Given the description of an element on the screen output the (x, y) to click on. 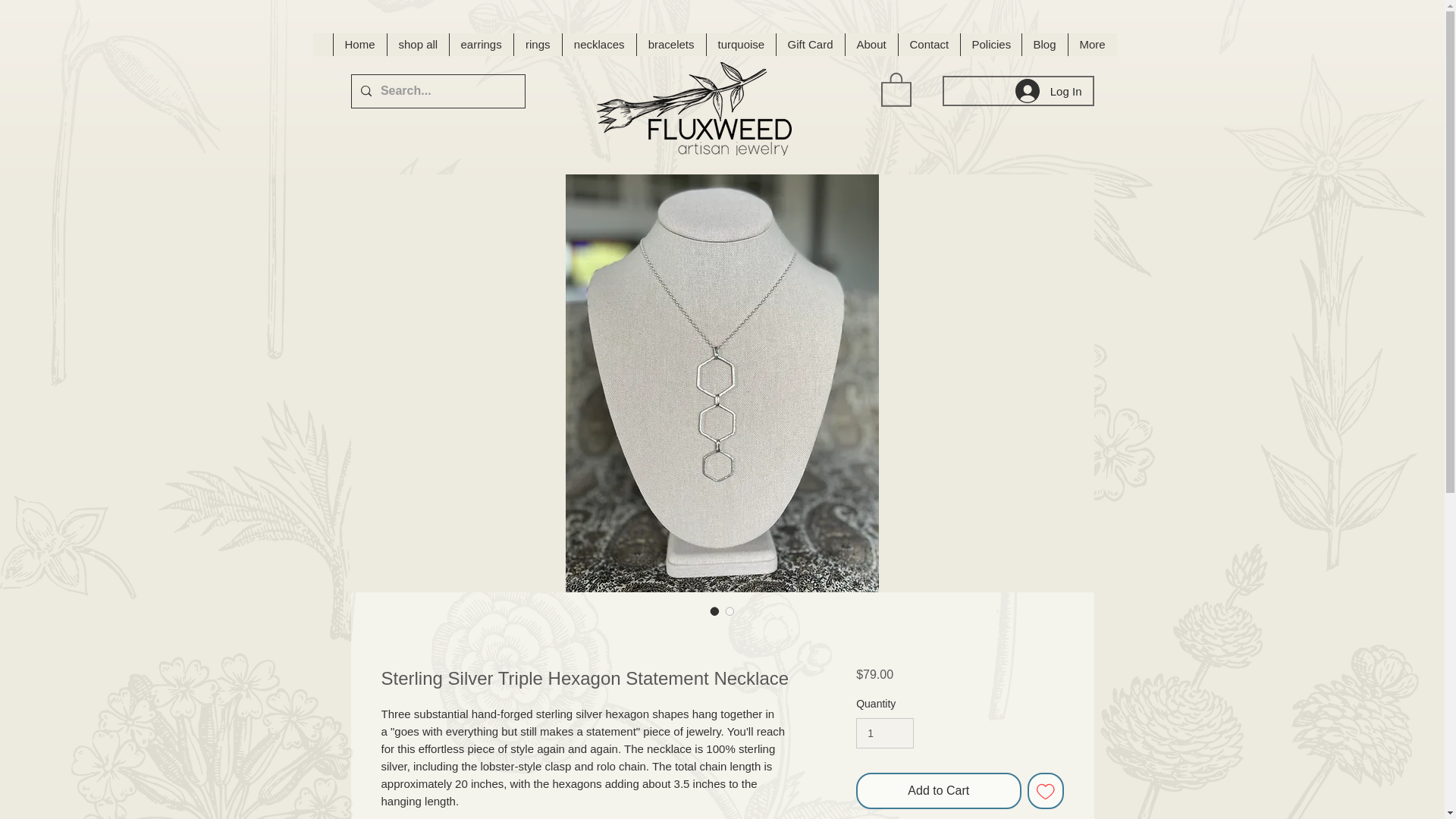
Gift Card (809, 44)
1 (885, 733)
Log In (1048, 90)
necklaces (597, 44)
turquoise (739, 44)
bracelets (669, 44)
rings (536, 44)
Add to Cart (938, 791)
About (871, 44)
Blog (1043, 44)
